Given the description of an element on the screen output the (x, y) to click on. 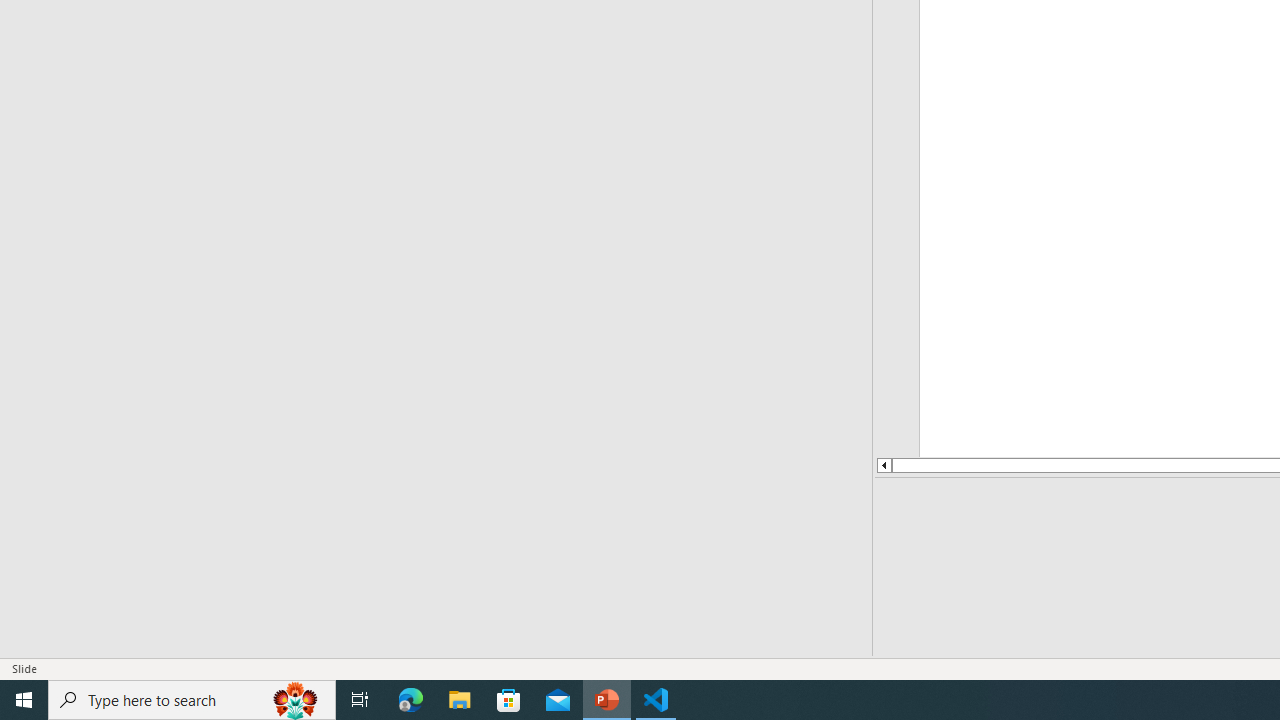
Microsoft Edge (411, 699)
